Given the description of an element on the screen output the (x, y) to click on. 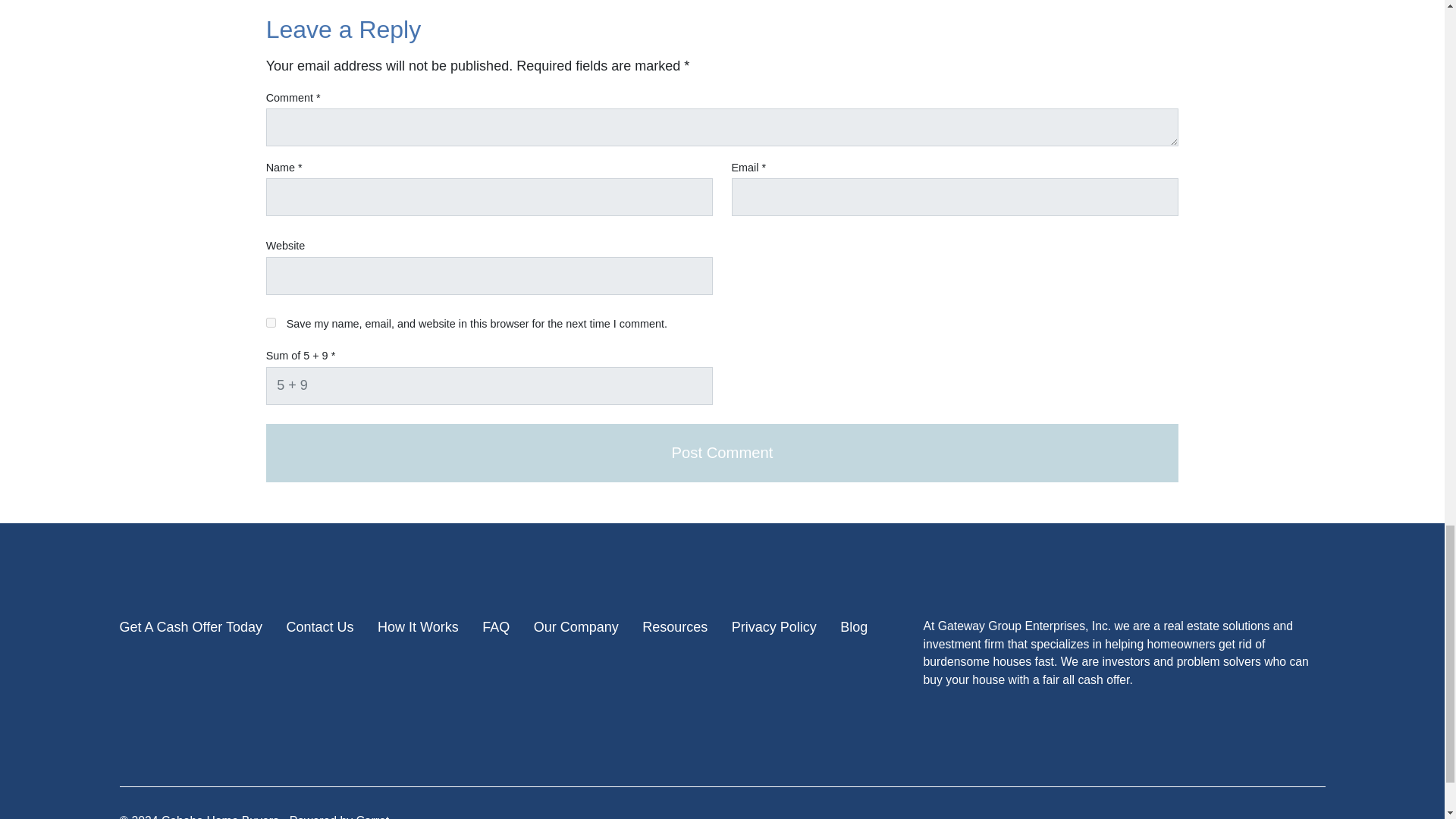
Contact Us (319, 627)
How It Works (417, 627)
Post Comment (722, 453)
Post Comment (722, 453)
Blog (853, 627)
Privacy Policy (774, 627)
Carrot (371, 816)
yes (271, 322)
Resources (674, 627)
FAQ (495, 627)
Get A Cash Offer Today (190, 627)
Our Company (576, 627)
